Given the description of an element on the screen output the (x, y) to click on. 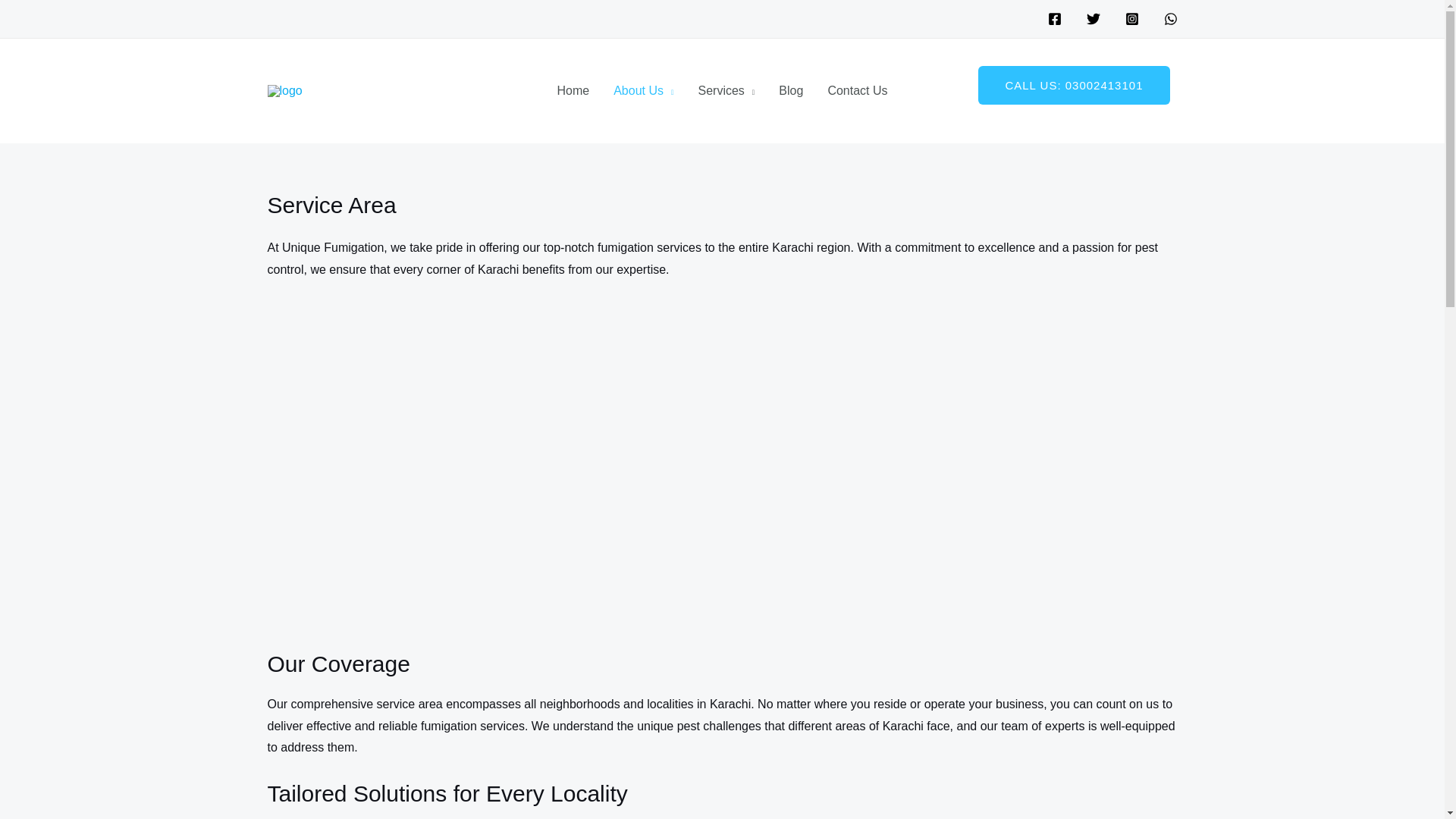
Services (726, 90)
Contact Us (857, 90)
Home (572, 90)
Blog (791, 90)
CALL US: 03002413101 (1073, 85)
About Us (643, 90)
